Given the description of an element on the screen output the (x, y) to click on. 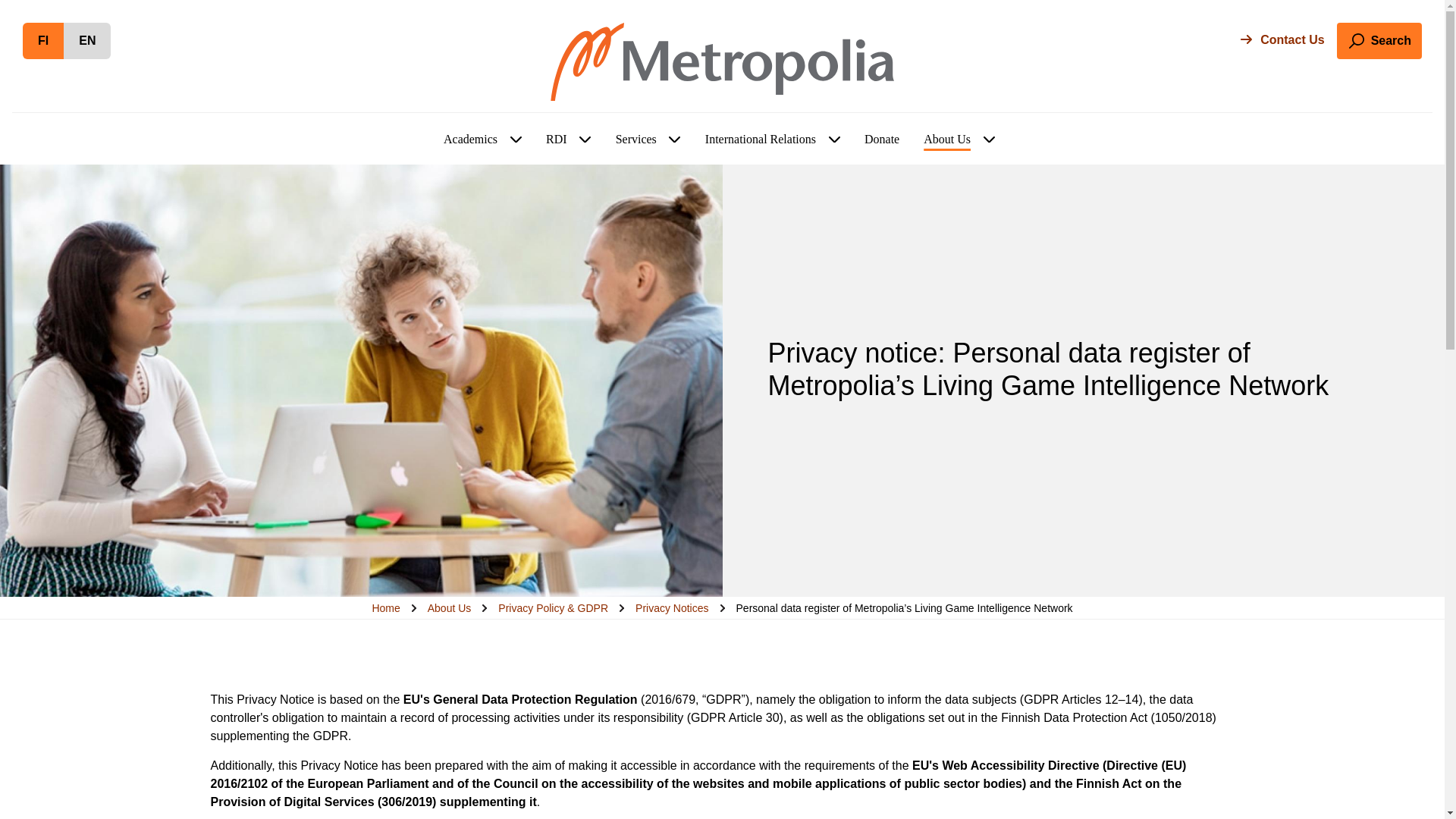
Academics (470, 139)
Show submenu for RDI (584, 139)
Show submenu for Services (674, 139)
Search (1379, 40)
Contact Us (1281, 39)
Services (635, 139)
Show submenu for Academics (87, 40)
